Given the description of an element on the screen output the (x, y) to click on. 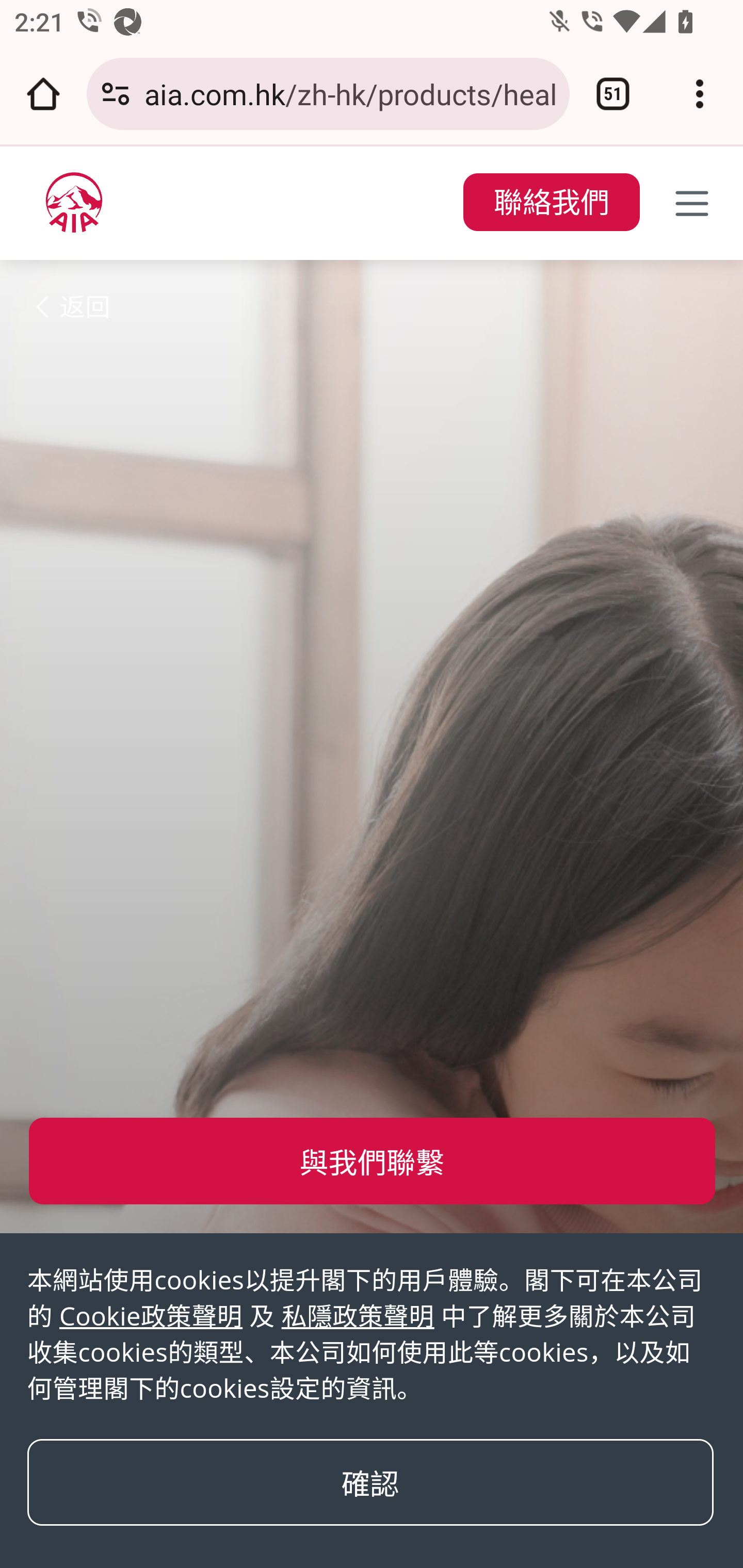
Open the home page (43, 93)
Connection is secure (115, 93)
Switch or close tabs (612, 93)
Customize and control Google Chrome (699, 93)
zh-hk (73, 202)
聯絡我們 (551, 203)
Toggle navigation (691, 203)
